Given the description of an element on the screen output the (x, y) to click on. 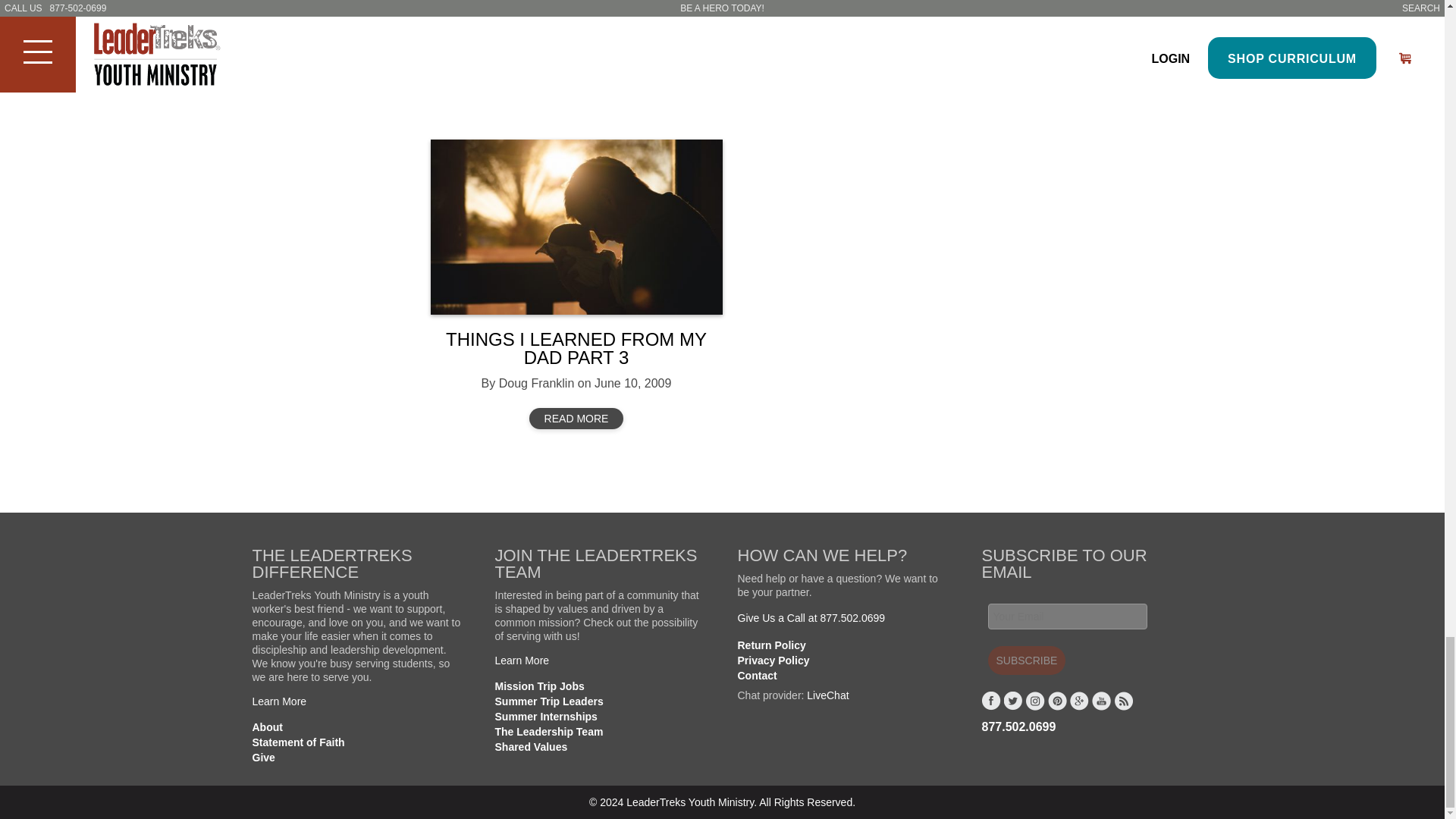
Things I learned from my Dad part 3 (576, 226)
